Given the description of an element on the screen output the (x, y) to click on. 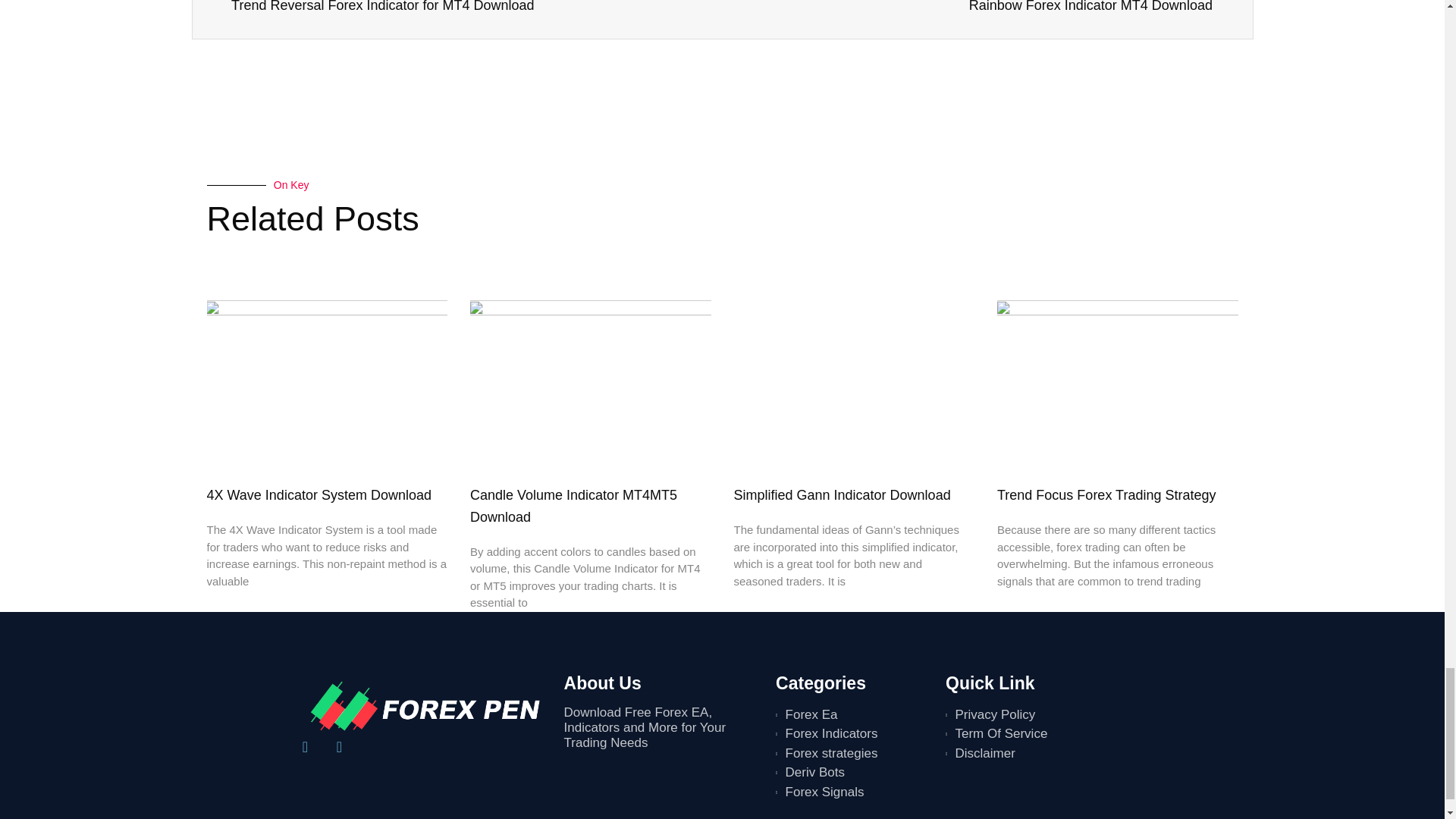
Simplified Gann Indicator Download (975, 7)
Candle Volume Indicator MT4MT5 Download (841, 494)
4X Wave Indicator System Download (468, 7)
